Given the description of an element on the screen output the (x, y) to click on. 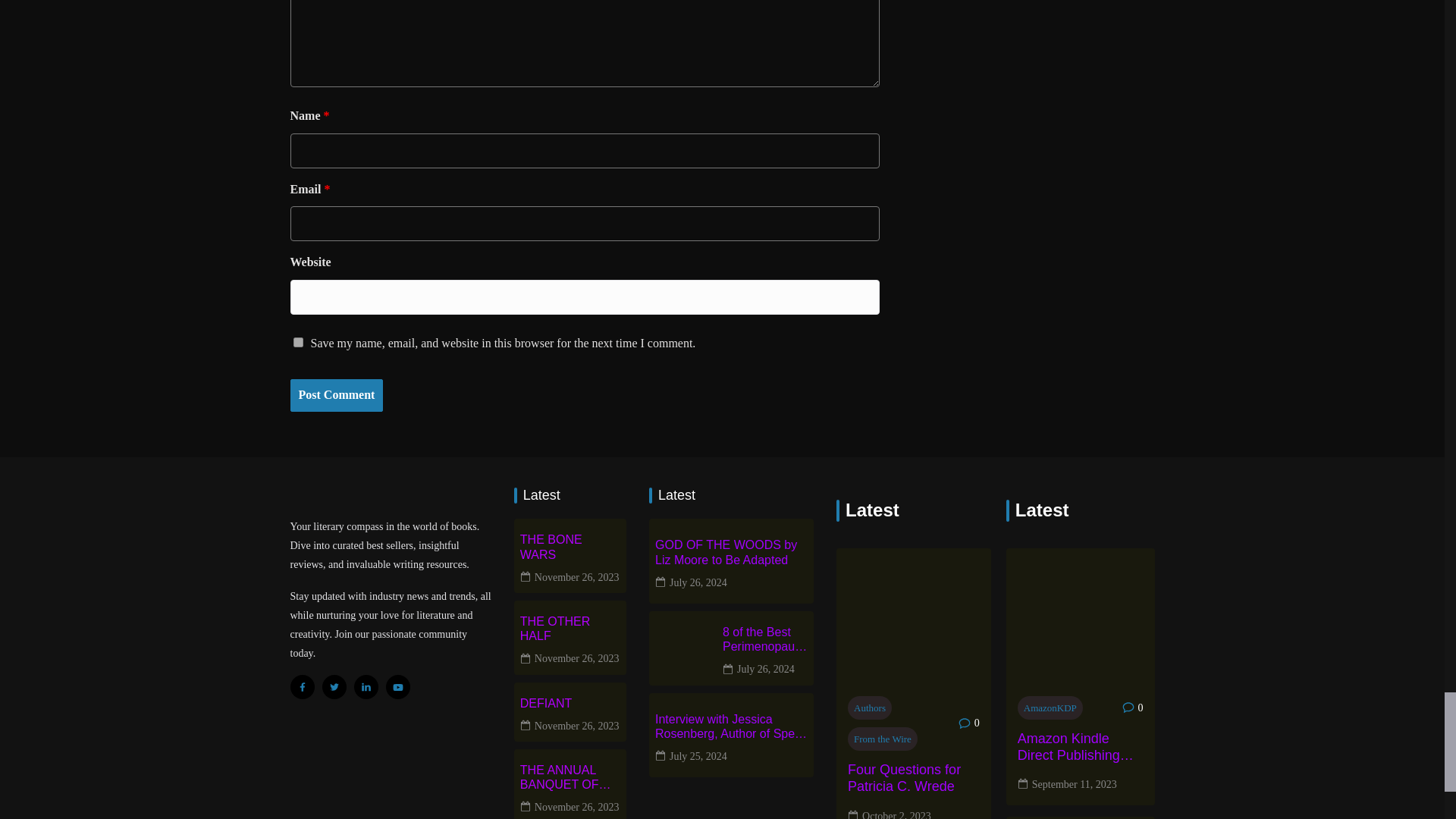
yes (297, 342)
Post Comment (335, 395)
